Given the description of an element on the screen output the (x, y) to click on. 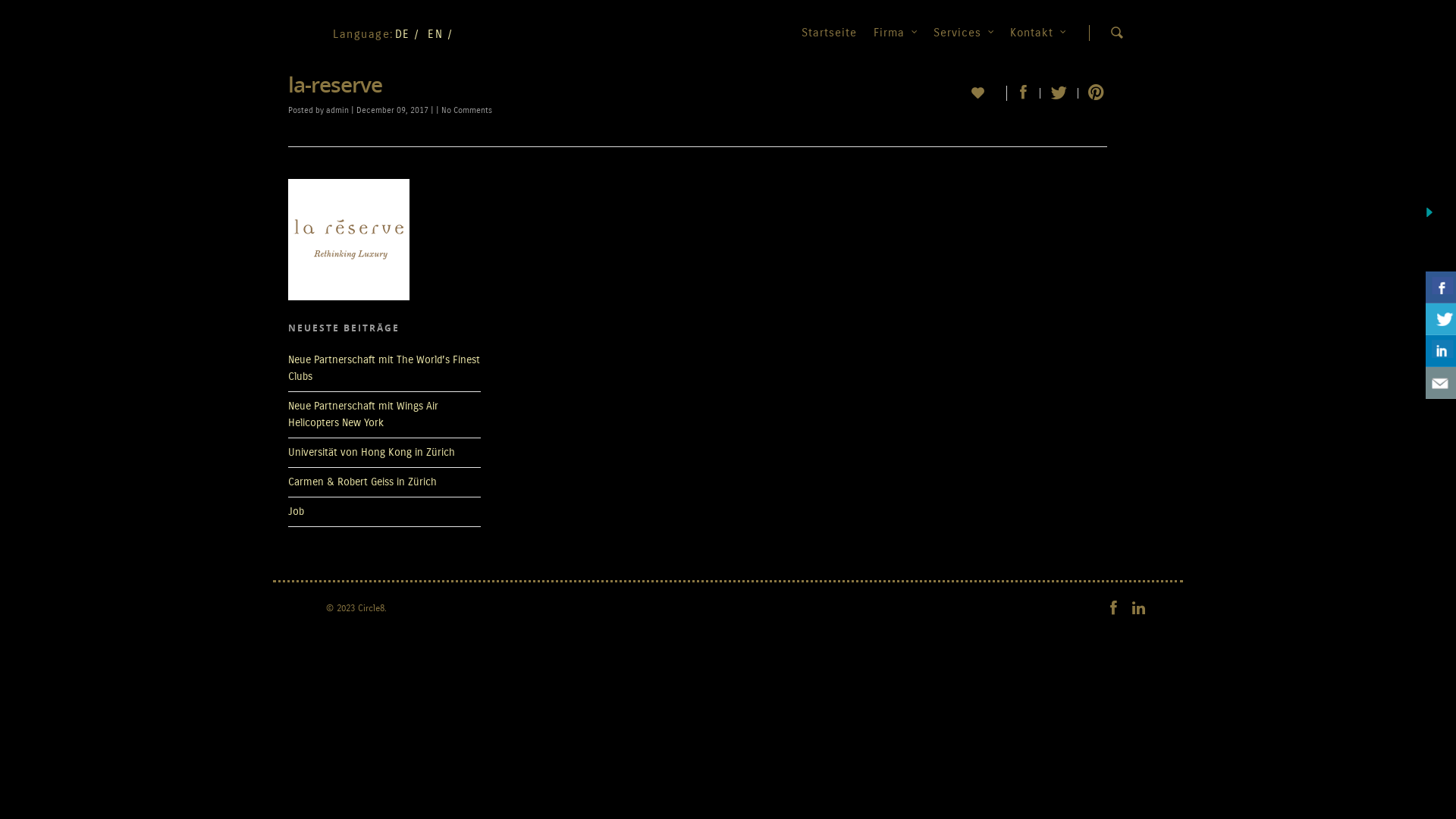
No Comments Element type: text (466, 110)
DE / Element type: text (406, 33)
Love this Element type: hover (988, 91)
Tweet this Element type: hover (1059, 92)
Pin this Element type: hover (1092, 92)
EN / Element type: text (439, 33)
Share this Element type: hover (1023, 92)
Startseite Element type: text (828, 43)
Neue Partnerschaft mit Wings Air Helicopters New York Element type: text (363, 414)
Firma Element type: text (895, 43)
admin Element type: text (337, 110)
Job Element type: text (296, 511)
Services Element type: text (963, 43)
Kontakt Element type: text (1037, 43)
